Given the description of an element on the screen output the (x, y) to click on. 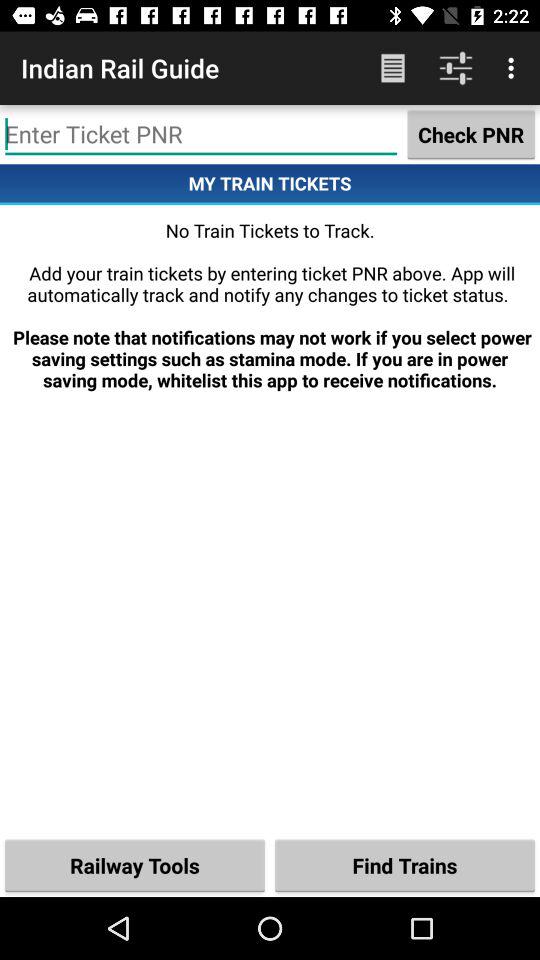
tap the check pnr (471, 134)
